Given the description of an element on the screen output the (x, y) to click on. 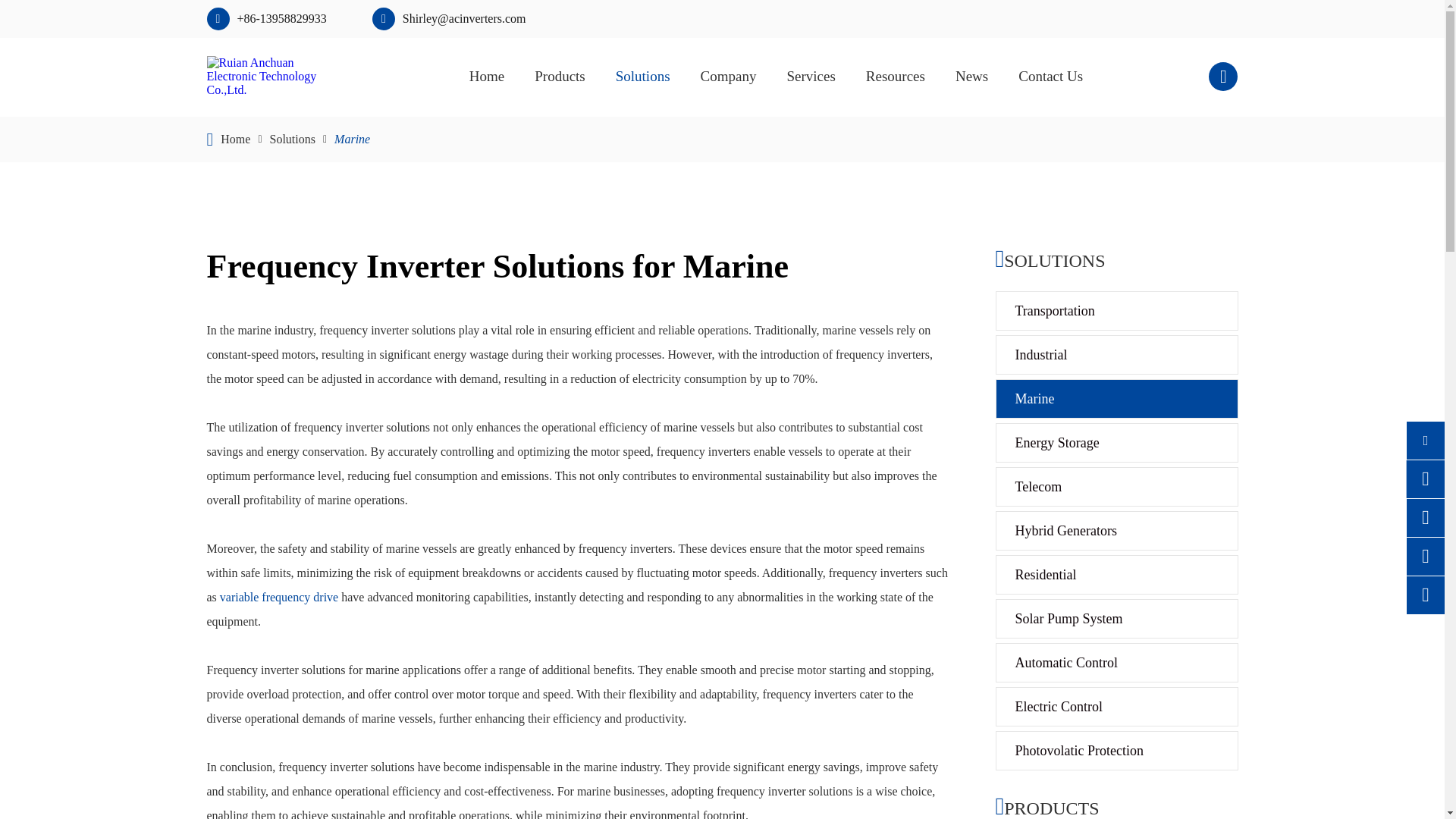
Ruian Anchuan Electronic Technology Co.,Ltd. (274, 76)
Solutions (292, 138)
Marine (351, 138)
